Given the description of an element on the screen output the (x, y) to click on. 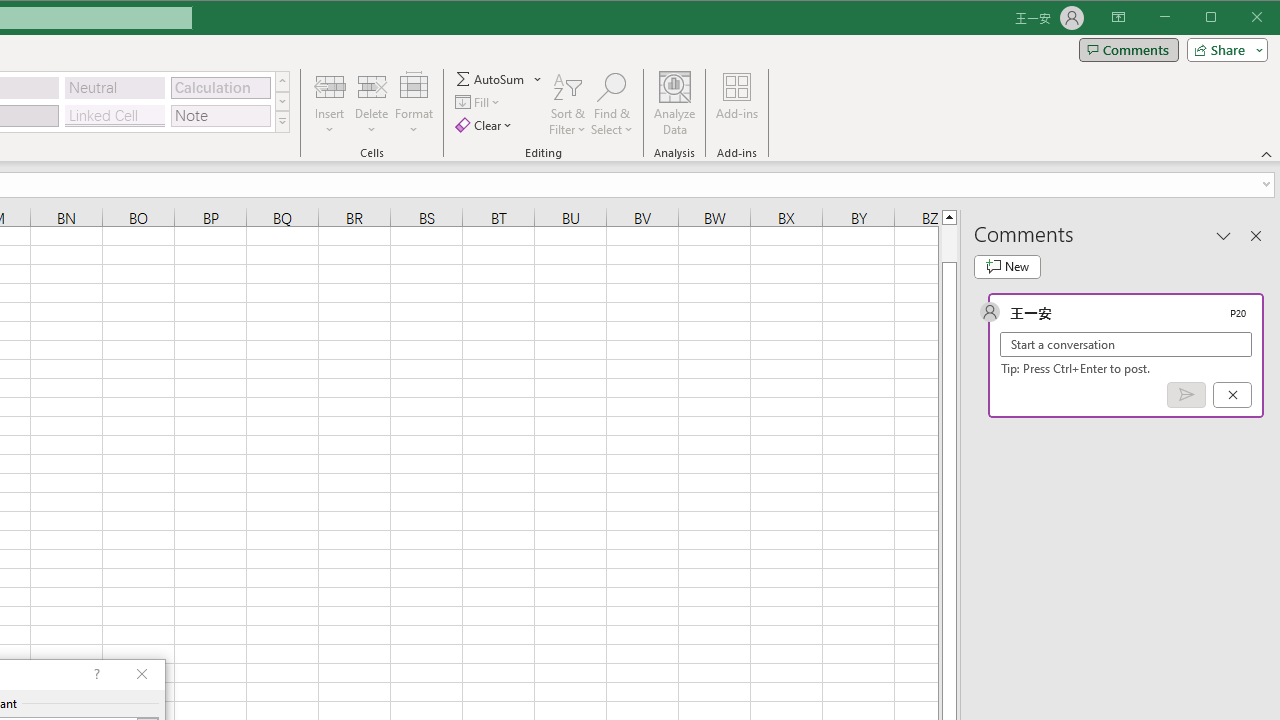
Sum (491, 78)
AutoSum (498, 78)
Find & Select (612, 104)
Delete (371, 104)
Delete Cells... (371, 86)
Calculation (220, 88)
Post comment (Ctrl + Enter) (1186, 395)
Cell Styles (282, 121)
